Given the description of an element on the screen output the (x, y) to click on. 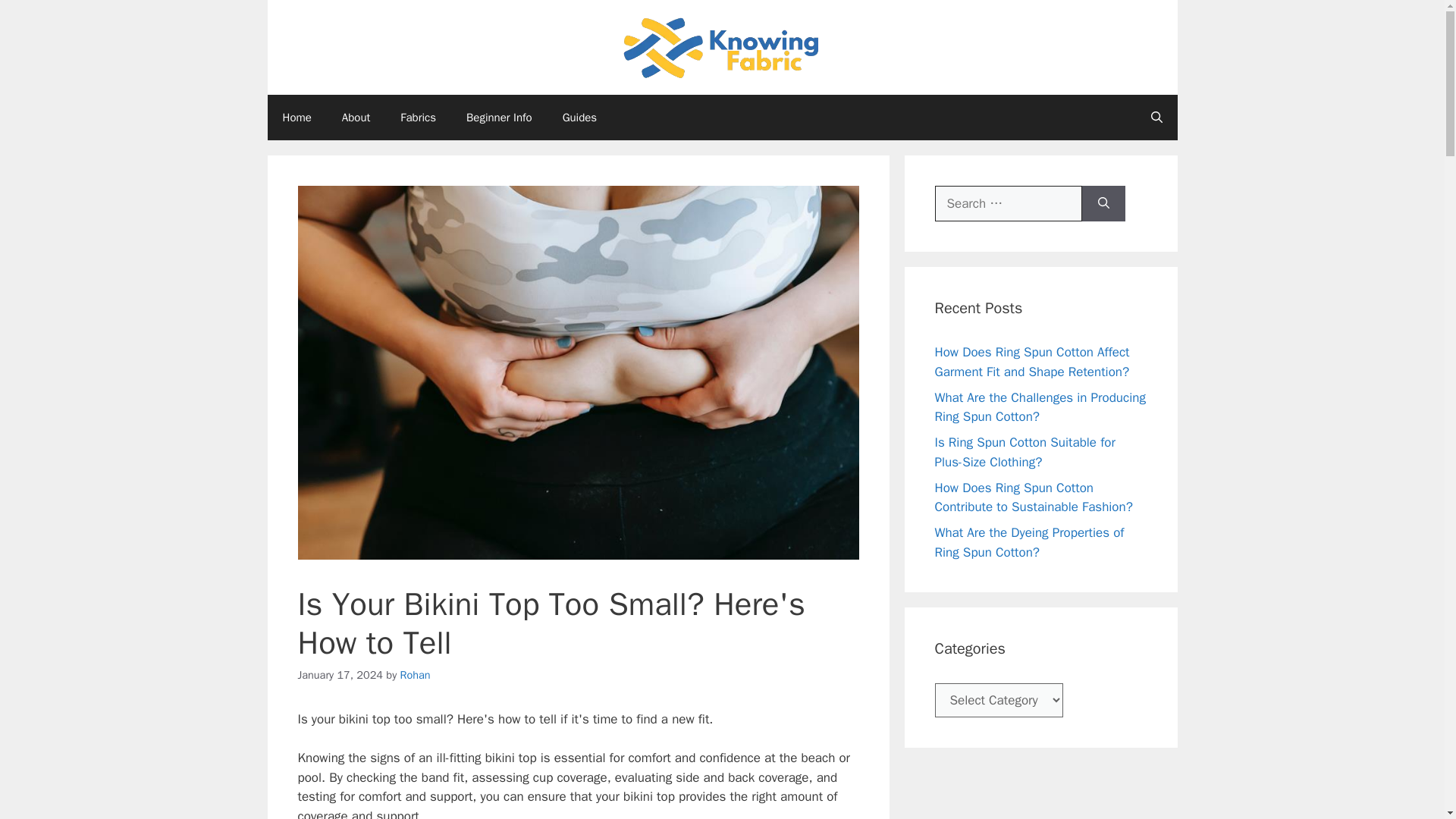
Guides (579, 117)
How Does Ring Spun Cotton Contribute to Sustainable Fashion? (1033, 497)
Fabrics (418, 117)
Rohan (415, 674)
Search for: (1007, 203)
View all posts by Rohan (415, 674)
Is Ring Spun Cotton Suitable for Plus-Size Clothing? (1024, 452)
What Are the Challenges in Producing Ring Spun Cotton? (1039, 407)
What Are the Dyeing Properties of Ring Spun Cotton? (1029, 542)
Home (296, 117)
